Given the description of an element on the screen output the (x, y) to click on. 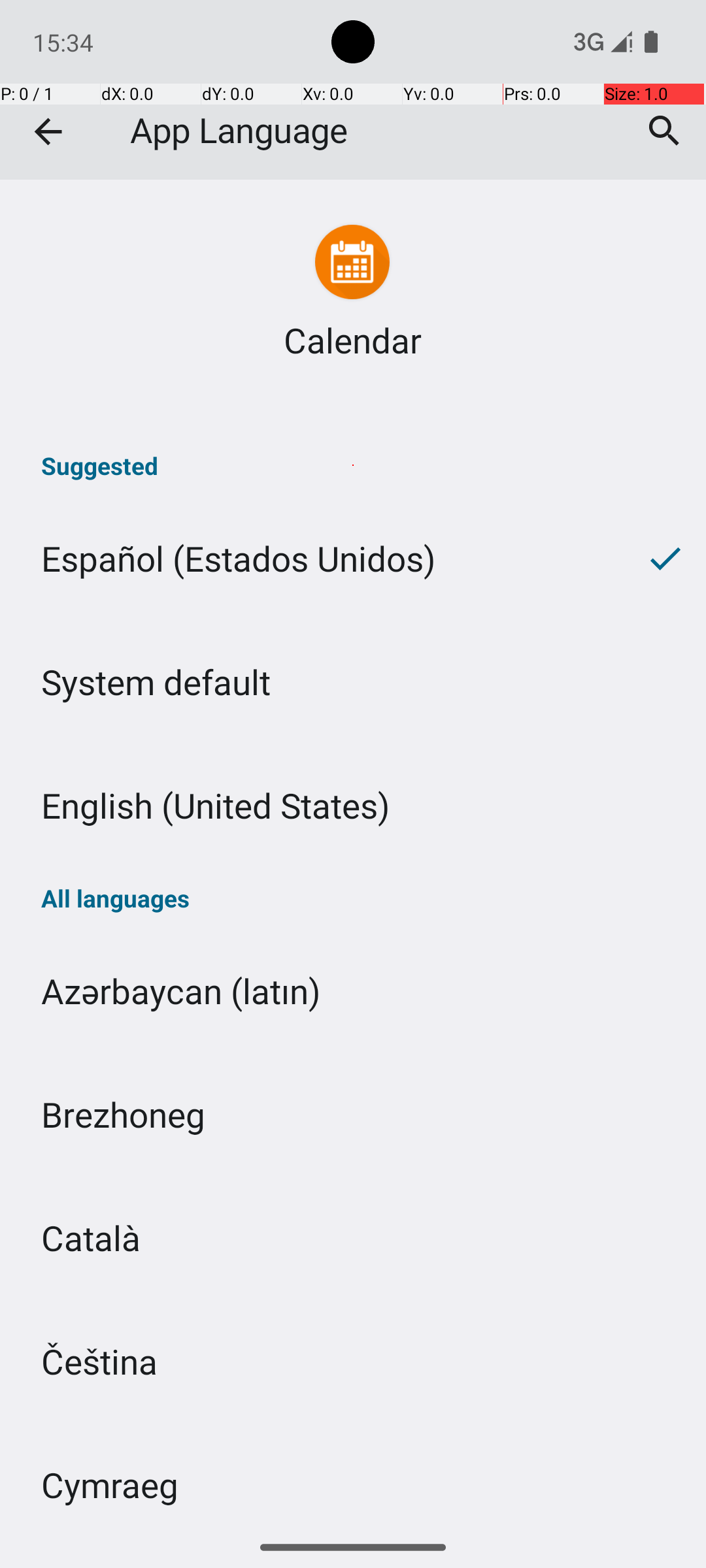
App Language Element type: android.widget.FrameLayout (353, 89)
Suggested Element type: android.widget.TextView (353, 465)
System default Element type: android.widget.TextView (353, 681)
English (United States) Element type: android.widget.TextView (353, 804)
All languages Element type: android.widget.TextView (353, 897)
Azərbaycan (latın) Element type: android.widget.TextView (353, 990)
Brezhoneg Element type: android.widget.TextView (353, 1114)
Català Element type: android.widget.TextView (353, 1237)
Čeština Element type: android.widget.TextView (353, 1360)
Cymraeg Element type: android.widget.TextView (353, 1474)
Español (Estados Unidos) Element type: android.widget.TextView (312, 558)
